Given the description of an element on the screen output the (x, y) to click on. 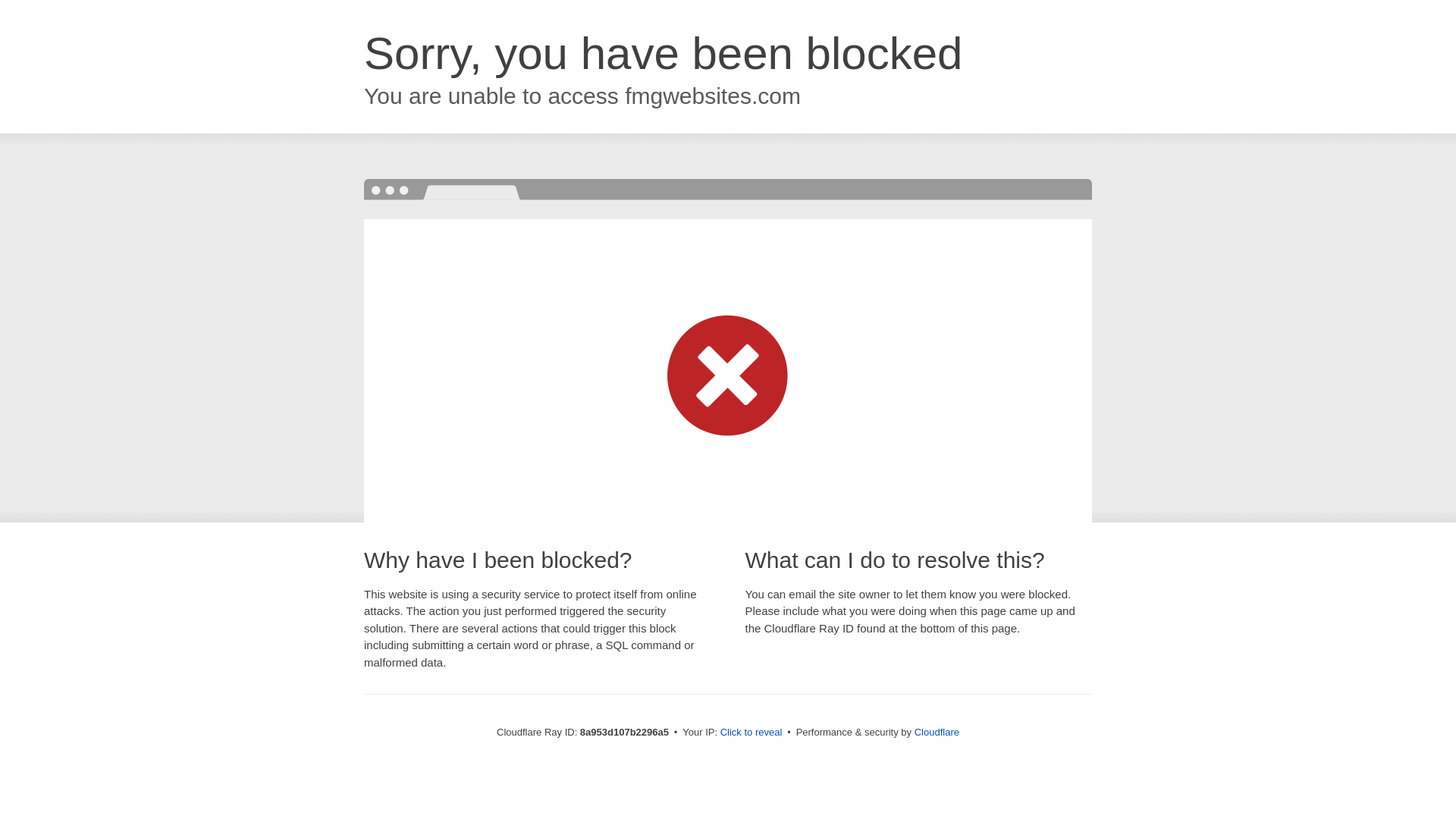
Click to reveal (751, 732)
Cloudflare (936, 731)
